Given the description of an element on the screen output the (x, y) to click on. 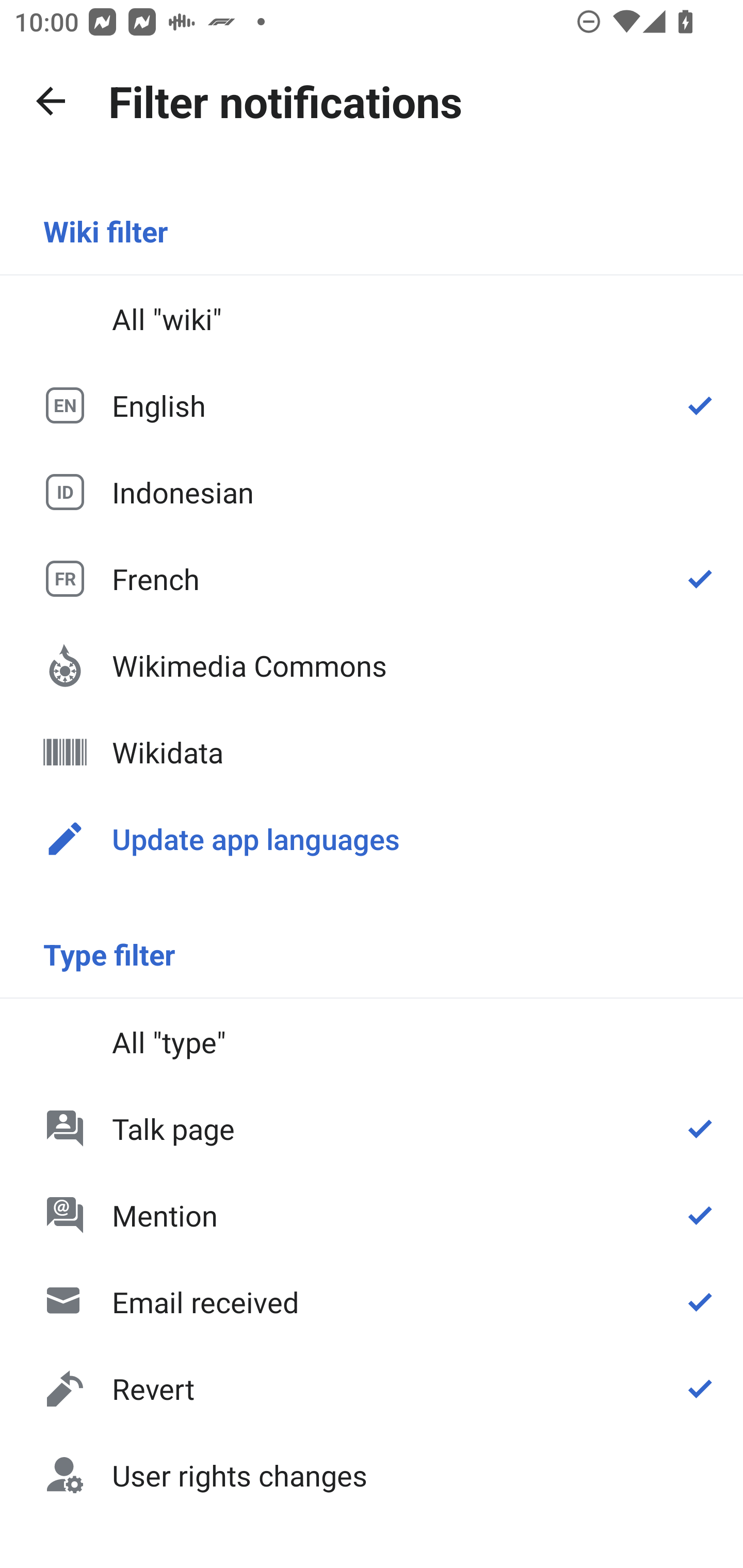
Navigate up (50, 101)
All "wiki" (371, 318)
EN English (371, 405)
ID Indonesian (371, 491)
FR French (371, 578)
Wikimedia Commons (371, 665)
Wikidata (371, 751)
Update app languages (371, 837)
All "type" (371, 1041)
Talk page (371, 1128)
Mention (371, 1215)
Email received (371, 1302)
Revert (371, 1388)
User rights changes (371, 1474)
